Given the description of an element on the screen output the (x, y) to click on. 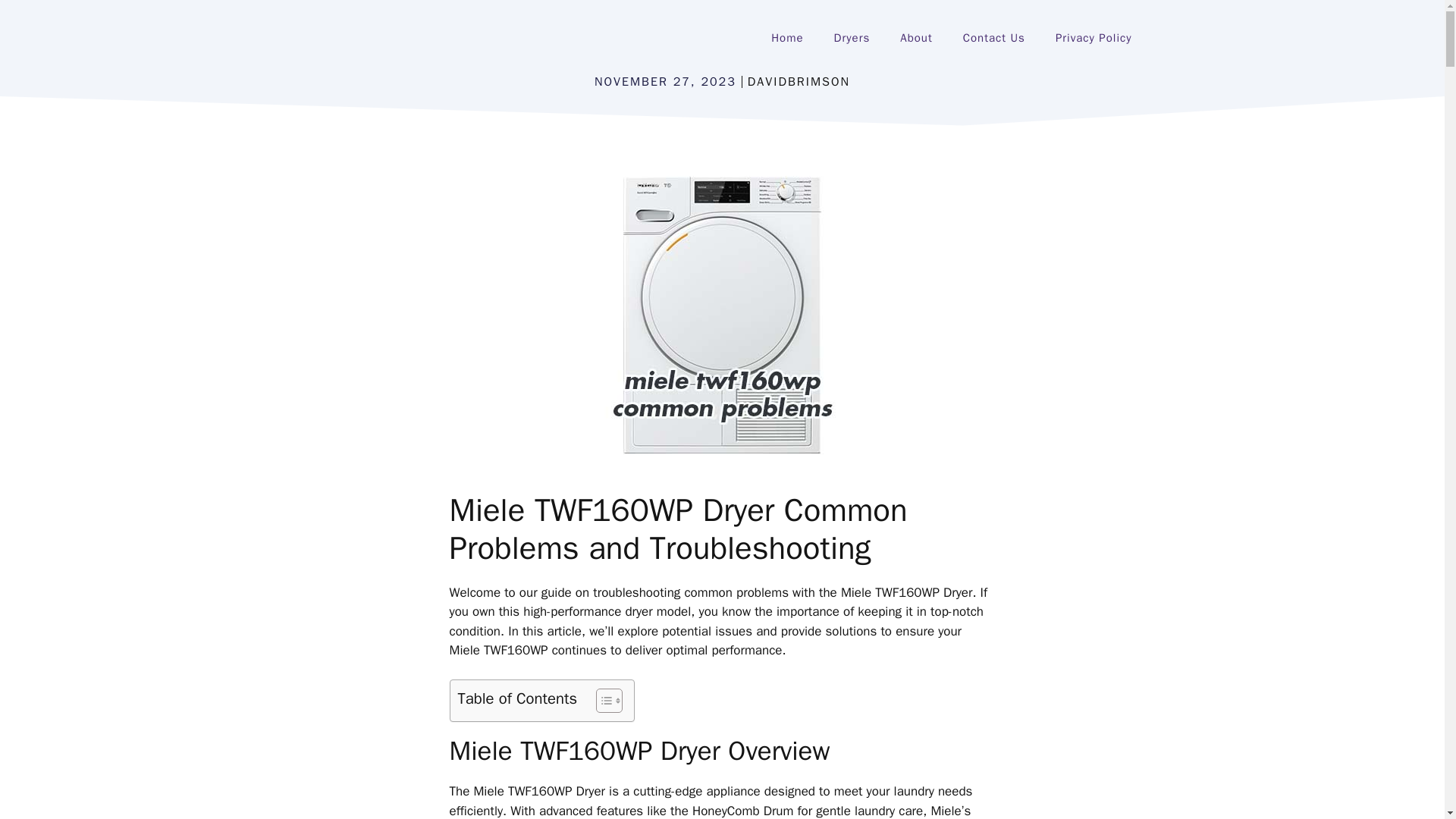
Home (786, 37)
Contact Us (994, 37)
DAVIDBRIMSON (799, 81)
Privacy Policy (1094, 37)
About (916, 37)
Dryers (851, 37)
